Given the description of an element on the screen output the (x, y) to click on. 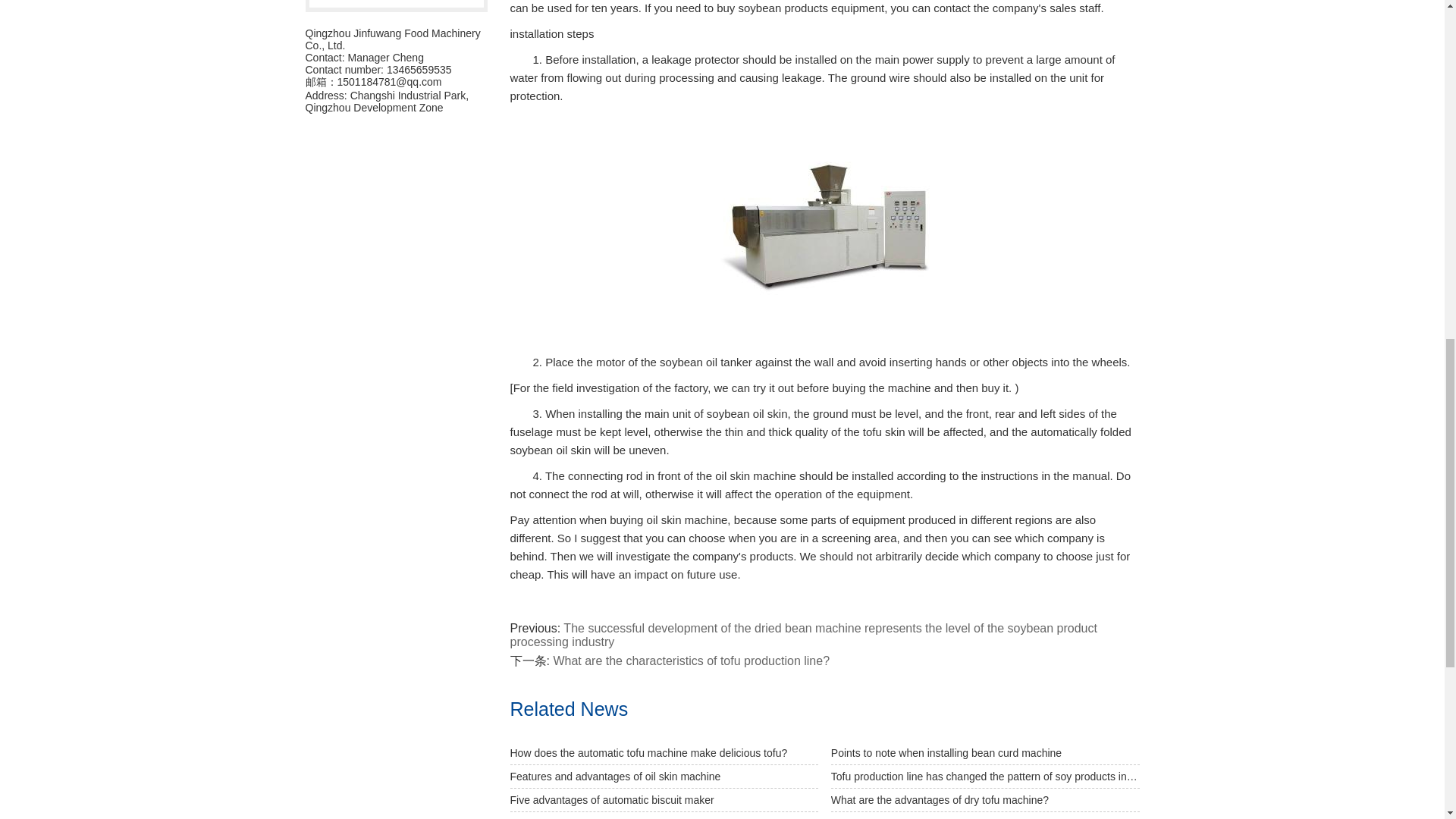
Features and advantages of oil skin machine (663, 776)
What are the characteristics of tofu production line? (691, 660)
Five advantages of automatic biscuit maker (663, 800)
What are the advantages of dry tofu machine? (985, 800)
Points to note when installing bean curd machine (985, 753)
Biscuit maker (395, 3)
How does the automatic tofu machine make delicious tofu? (663, 753)
What function can dry tofu machine achieve? (663, 815)
